Given the description of an element on the screen output the (x, y) to click on. 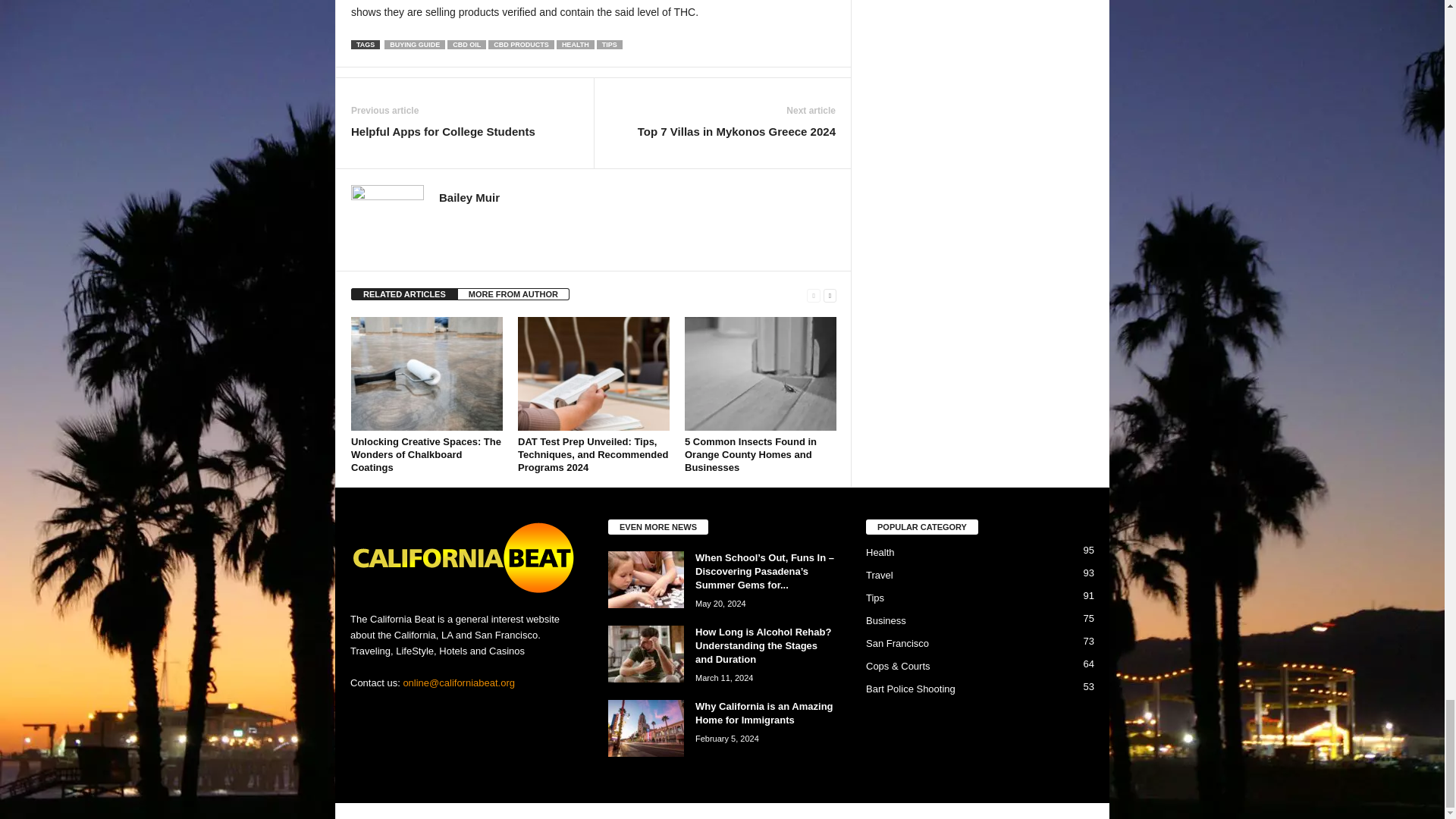
CBD OIL (466, 44)
5 Common Insects Found in Orange County Homes and Businesses (759, 373)
5 Common Insects Found in Orange County Homes and Businesses (750, 454)
CBD PRODUCTS (520, 44)
BUYING GUIDE (414, 44)
